Given the description of an element on the screen output the (x, y) to click on. 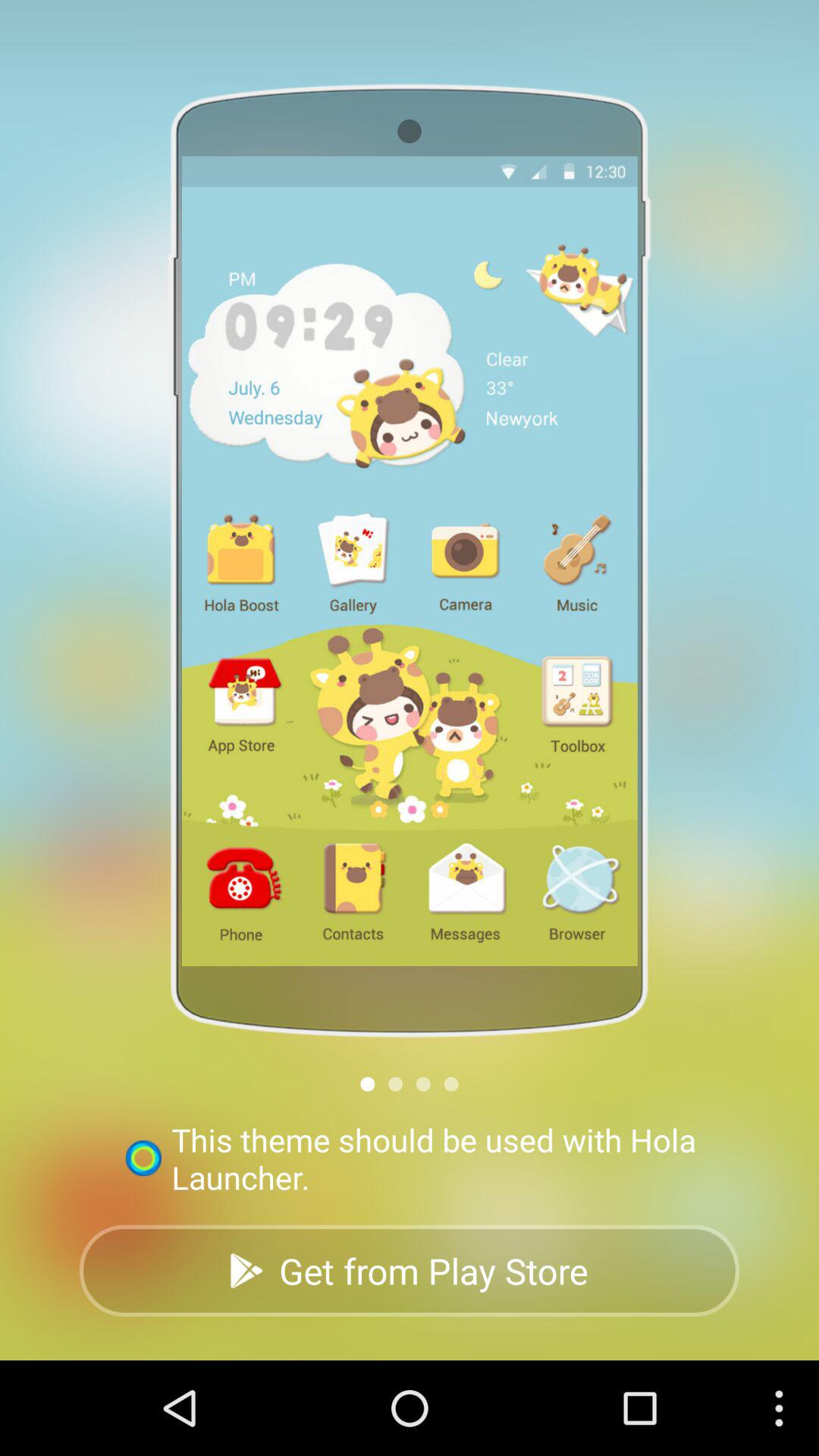
next page (395, 1084)
